Given the description of an element on the screen output the (x, y) to click on. 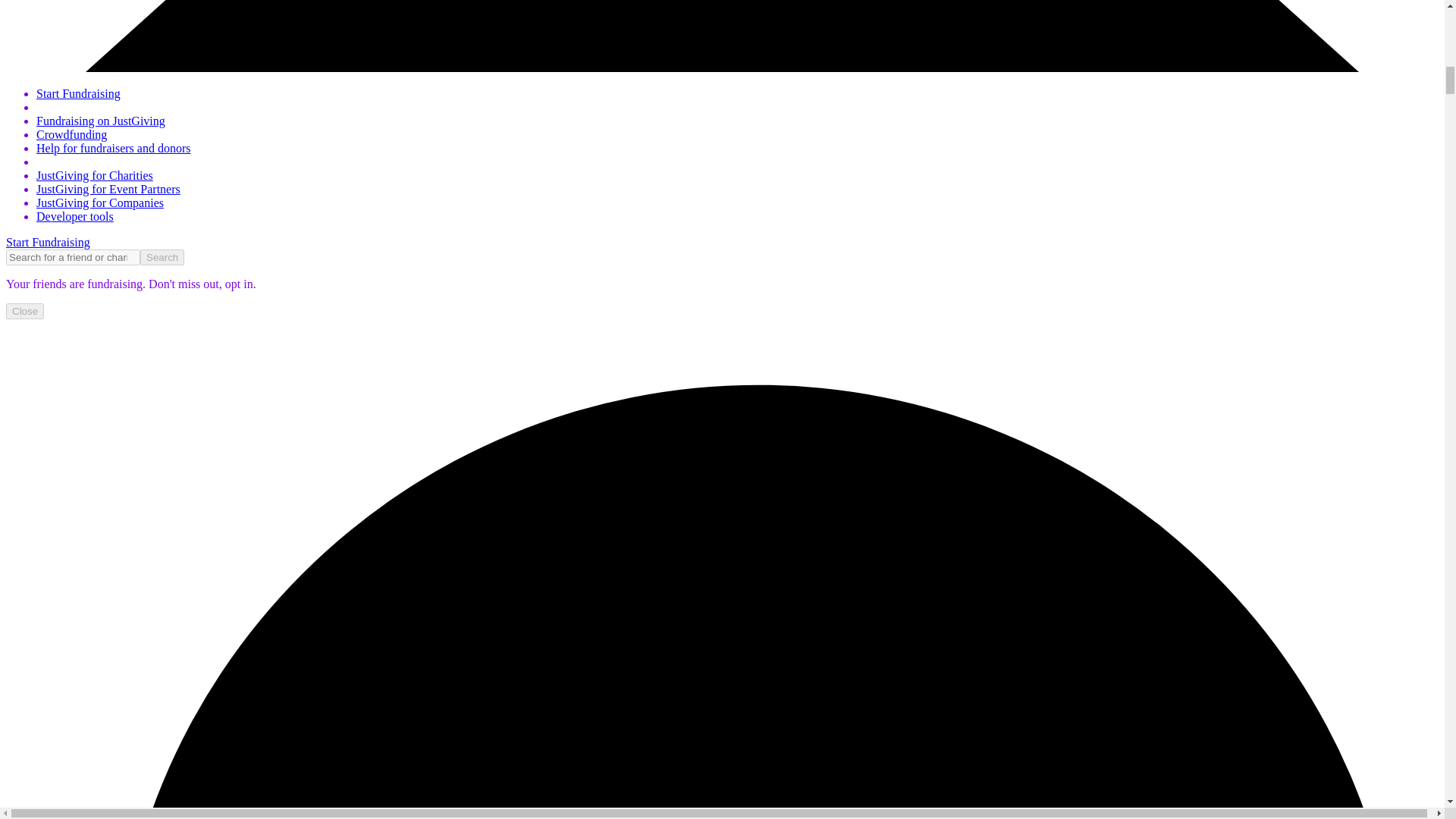
Crowdfunding (71, 133)
Close (24, 311)
Fundraising on JustGiving (100, 120)
JustGiving for Event Partners (108, 188)
Search (161, 257)
JustGiving for Charities (94, 174)
Search (161, 257)
Search (161, 257)
Start Fundraising (47, 241)
opt in. (239, 283)
